Given the description of an element on the screen output the (x, y) to click on. 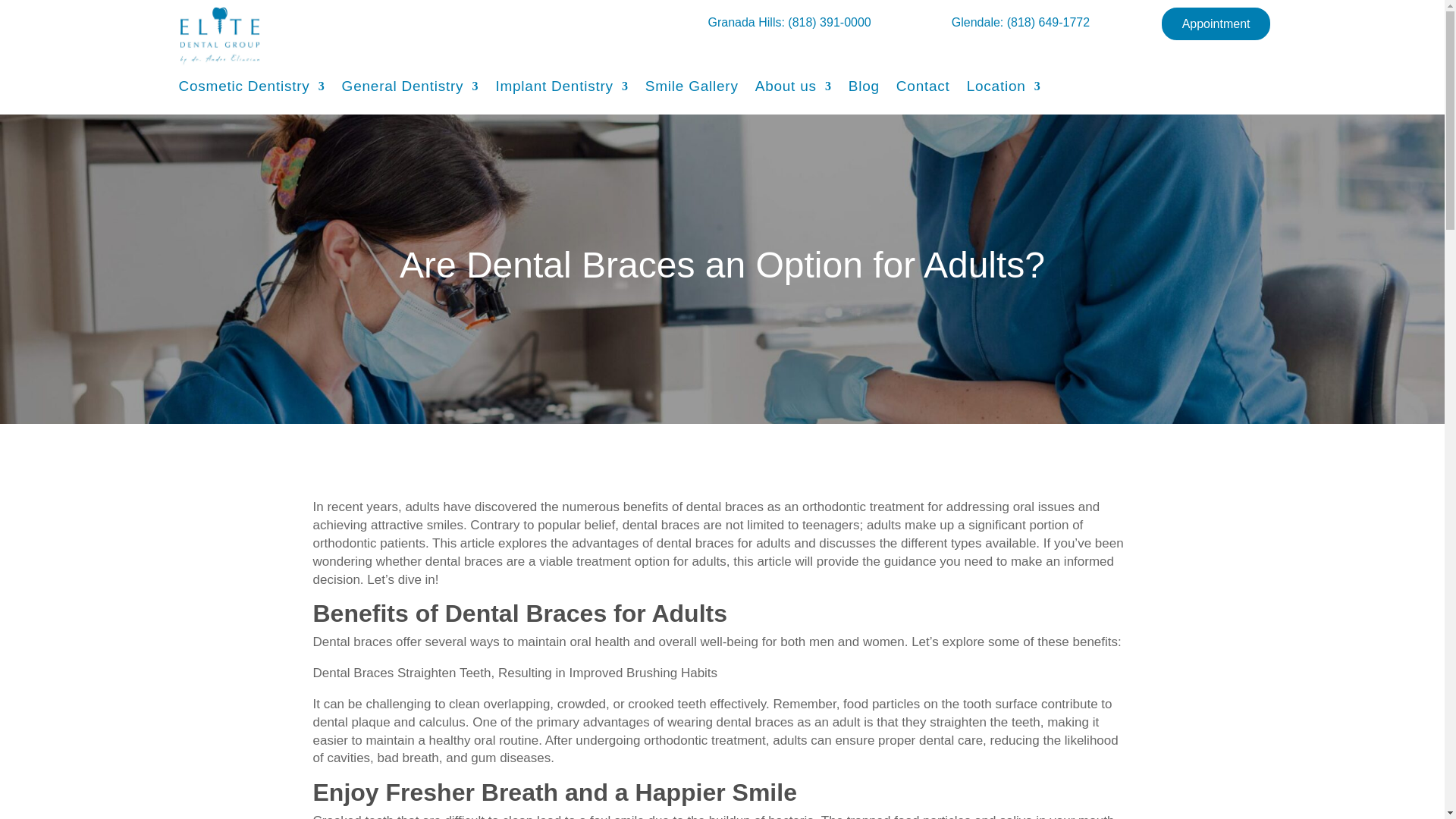
Appointment (1216, 23)
Location (1003, 89)
Contact (923, 89)
About us (793, 89)
General Dentistry (410, 89)
Implant Dentistry (561, 89)
Cosmetic Dentistry (251, 89)
elitedental-logo (219, 35)
Smile Gallery (691, 89)
Blog (863, 89)
